Given the description of an element on the screen output the (x, y) to click on. 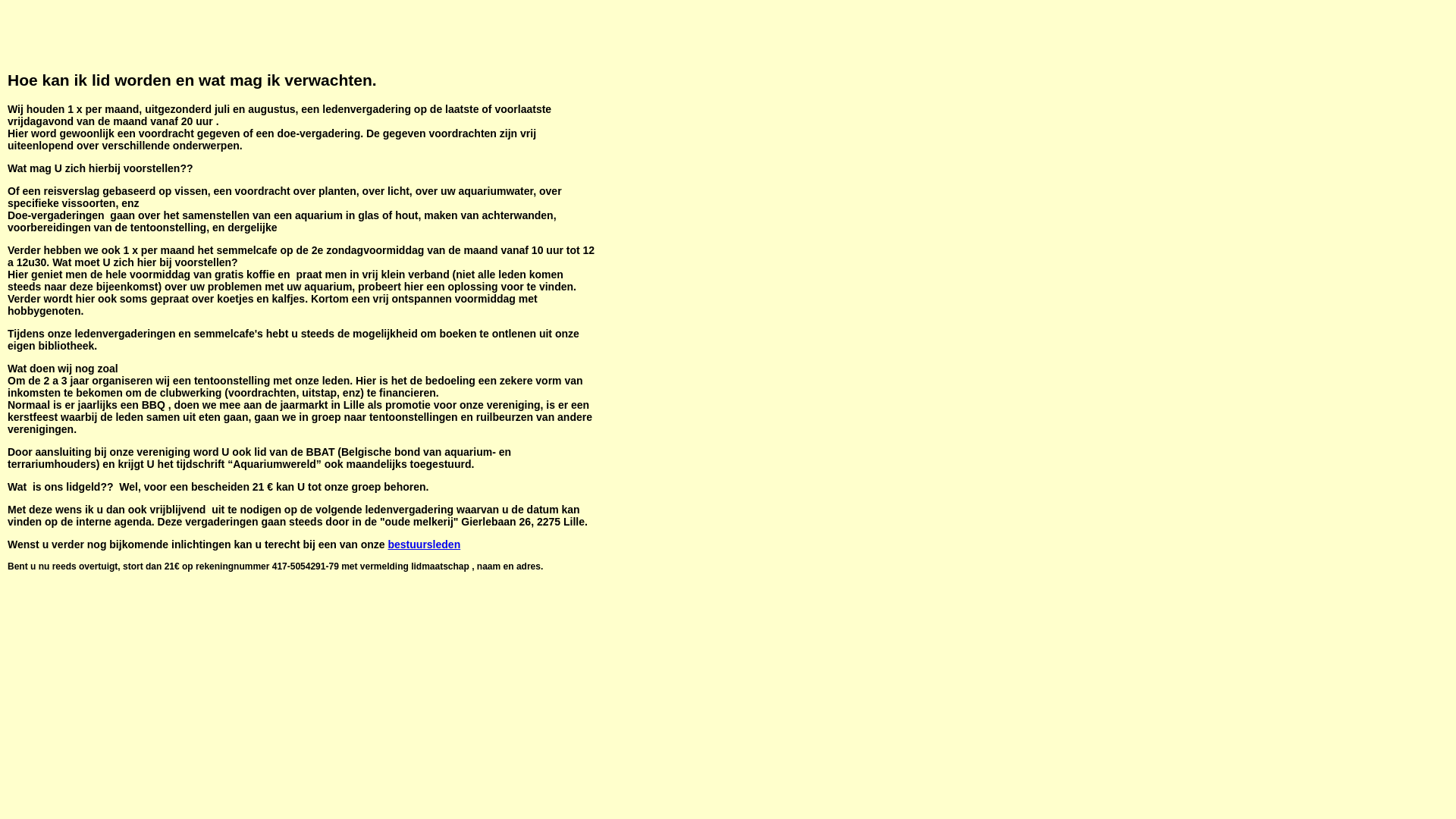
bestuursleden Element type: text (424, 544)
